Given the description of an element on the screen output the (x, y) to click on. 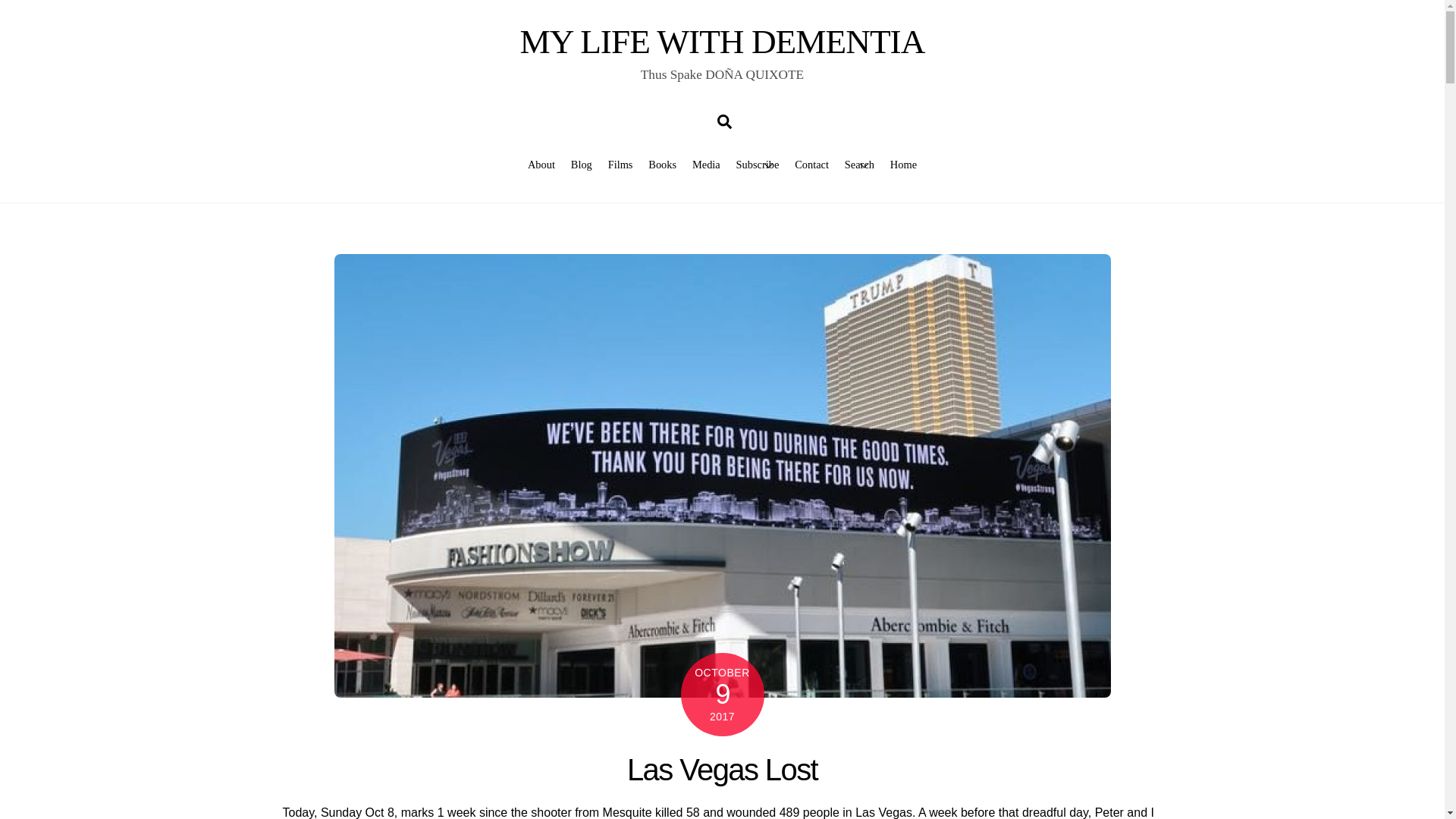
Home (903, 164)
Films (620, 164)
Contact (812, 164)
MY LIFE WITH DEMENTIA (721, 41)
Search (724, 120)
Books (662, 164)
Media (705, 164)
MY LIFE WITH DEMENTIA (721, 41)
Search (859, 164)
About (540, 164)
Las Vegas Lost (721, 769)
Blog (581, 164)
Subscribe (757, 164)
